Given the description of an element on the screen output the (x, y) to click on. 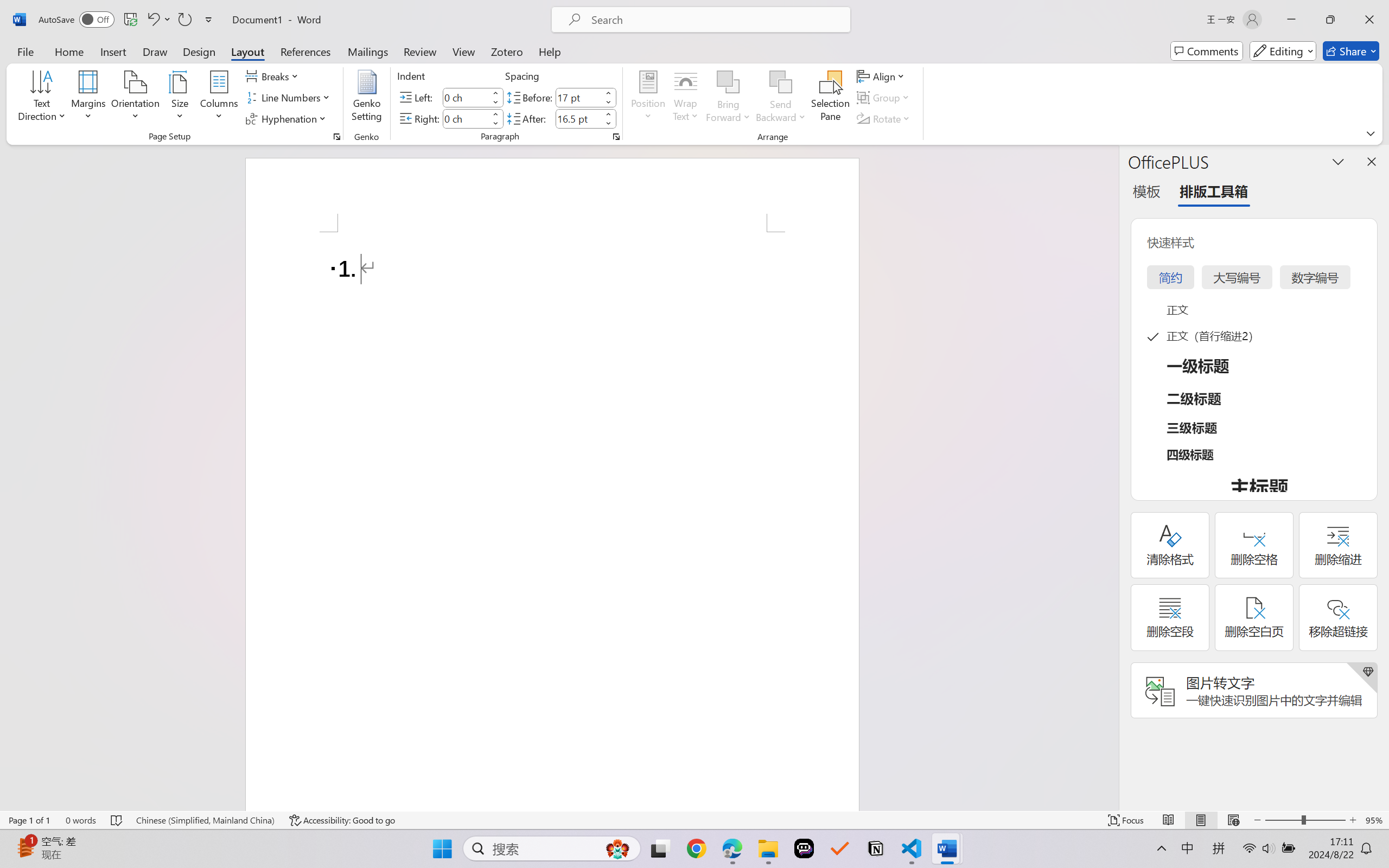
Rotate (884, 118)
Genko Setting... (367, 97)
Orientation (135, 97)
Less (608, 123)
